Given the description of an element on the screen output the (x, y) to click on. 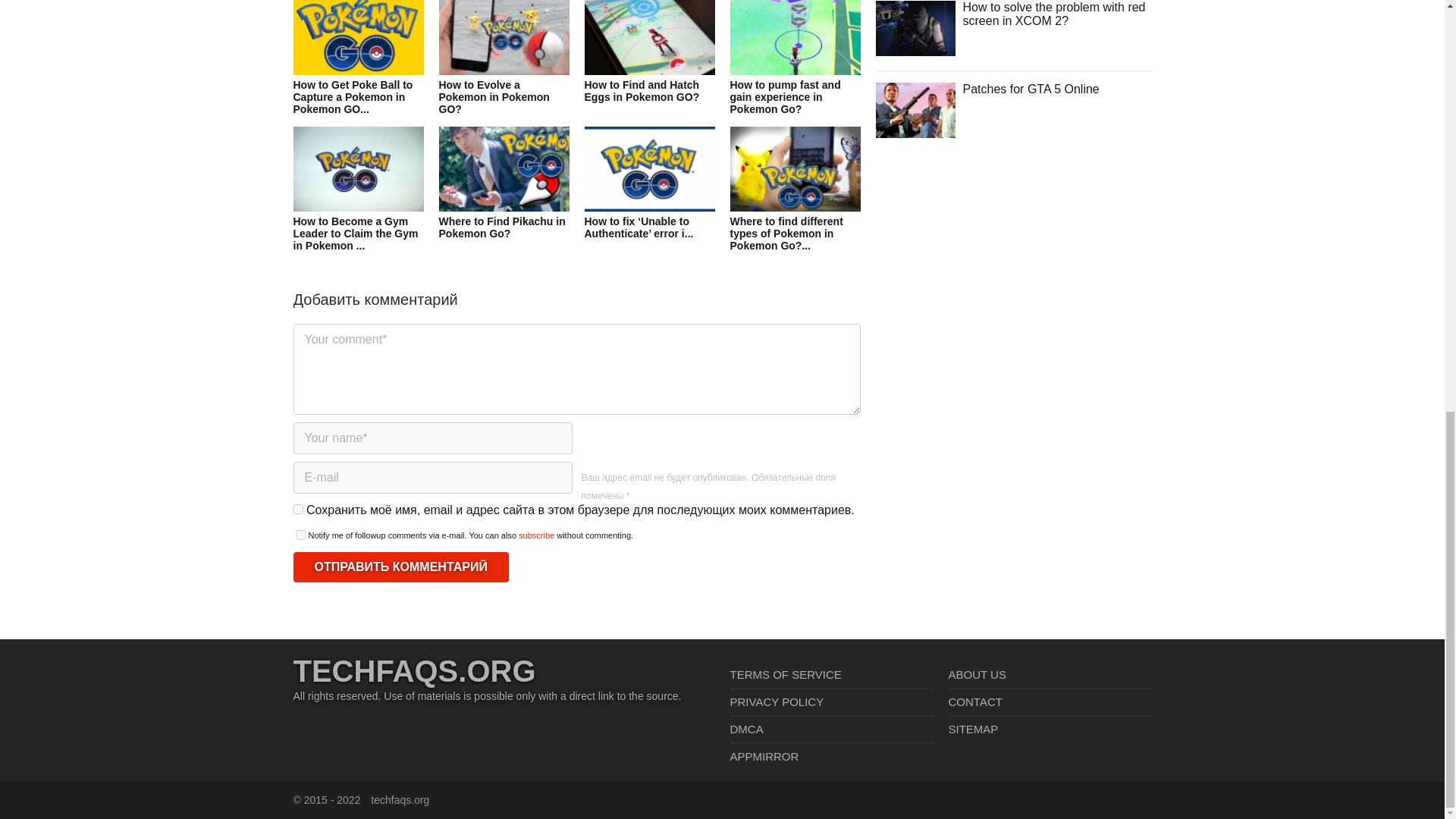
How to Find and Hatch Eggs in Pokemon GO? (648, 64)
subscribe (536, 534)
Where to Find Pikachu in Pokemon Go? (503, 200)
How to solve the problem with red screen in XCOM 2? (915, 27)
How to pump fast and gain experience in Pokemon Go? (794, 70)
yes (297, 509)
How to Evolve a Pokemon in Pokemon GO? (503, 70)
How to Become a Gym Leader to Claim the Gym in Pokemon ... (357, 206)
yes (299, 534)
Where to find different types of Pokemon in Pokemon Go?... (794, 206)
